Given the description of an element on the screen output the (x, y) to click on. 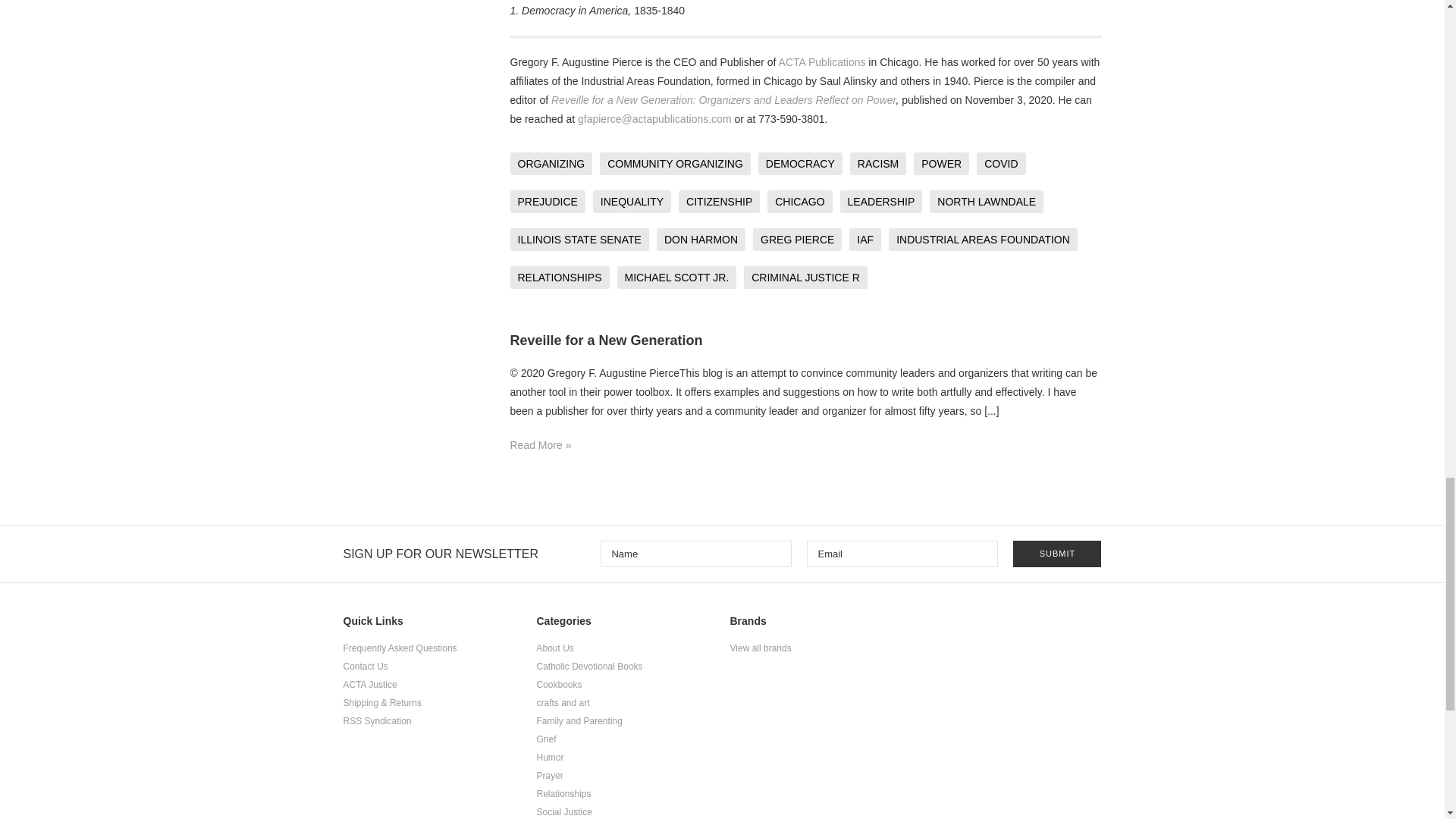
YouTube (1054, 626)
Submit (1056, 553)
Twitter (1025, 626)
Facebook (996, 626)
Email (901, 553)
Name (695, 553)
Instagram (1084, 626)
